Given the description of an element on the screen output the (x, y) to click on. 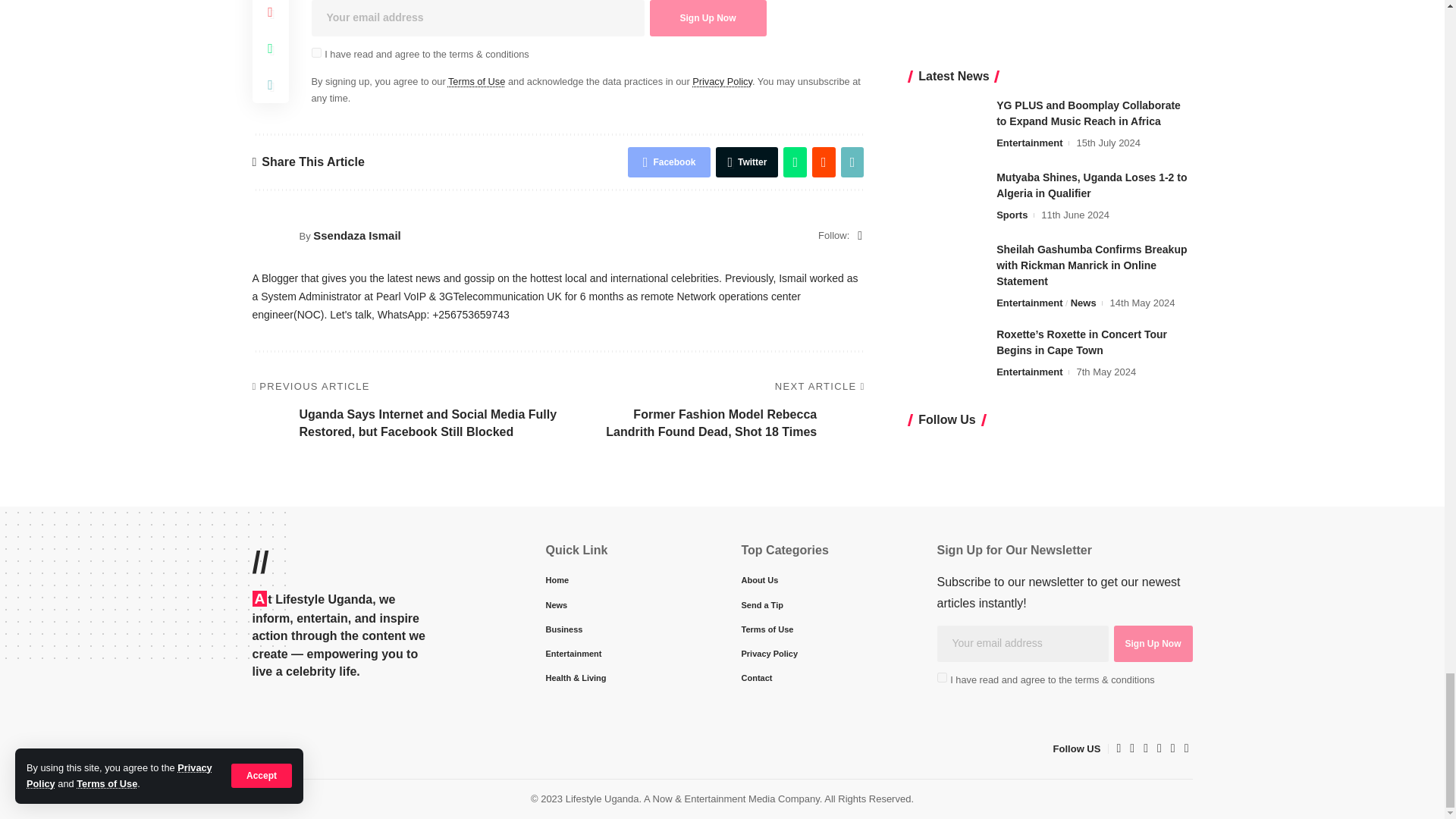
Sign Up Now (707, 18)
Sign Up Now (1152, 643)
1 (942, 677)
1 (315, 52)
